Given the description of an element on the screen output the (x, y) to click on. 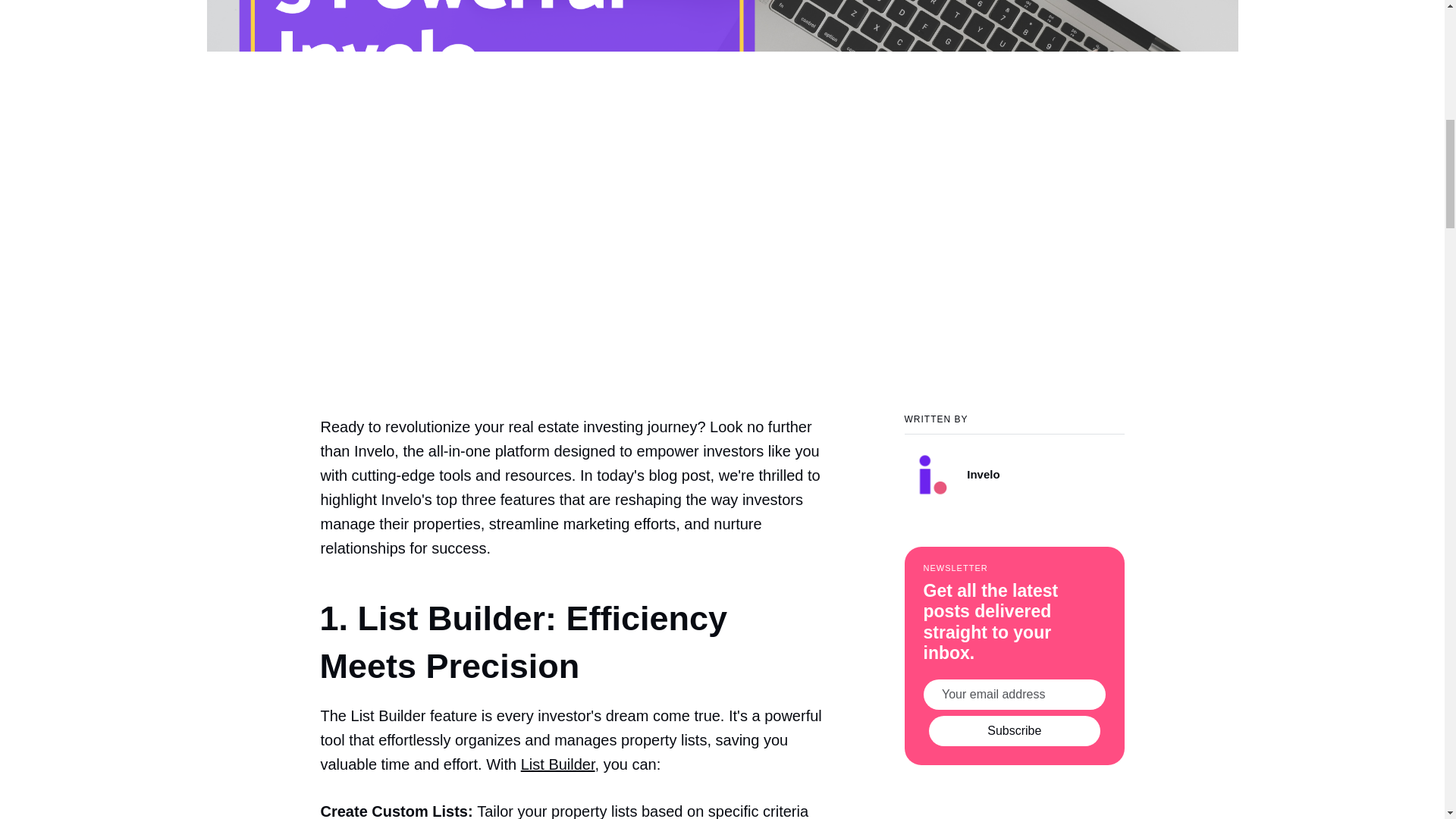
Invelo (1014, 467)
List Builder (558, 764)
Subscribe (1014, 730)
